Given the description of an element on the screen output the (x, y) to click on. 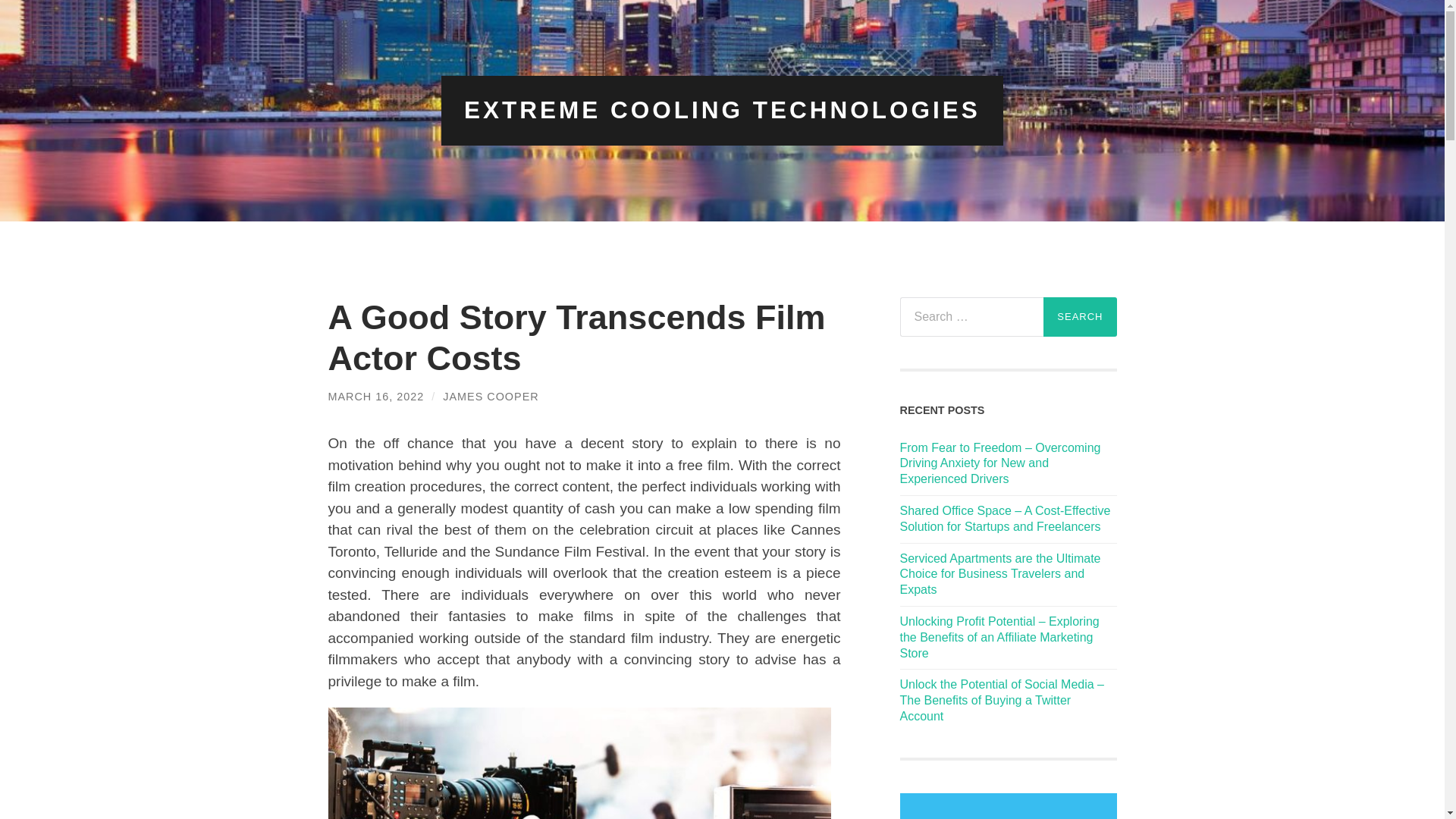
Search (1079, 316)
Search (1079, 316)
EXTREME COOLING TECHNOLOGIES (721, 109)
Posts by James Cooper (490, 395)
MARCH 16, 2022 (375, 395)
Search (1079, 316)
JAMES COOPER (490, 395)
